Given the description of an element on the screen output the (x, y) to click on. 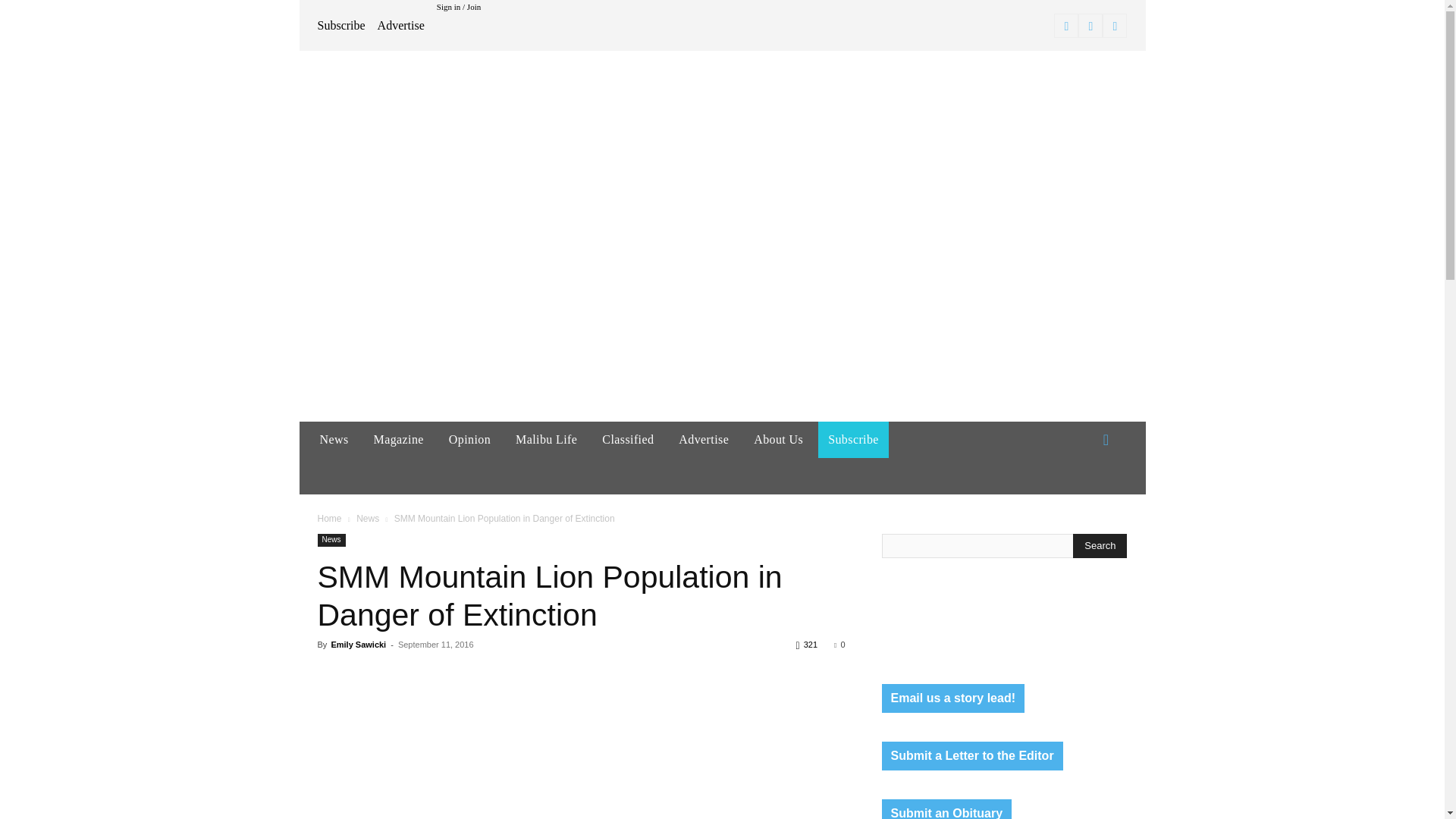
View all posts in News (367, 518)
Instagram (1090, 25)
Twitter (1114, 25)
Facebook (1066, 25)
Search (1099, 545)
